Given the description of an element on the screen output the (x, y) to click on. 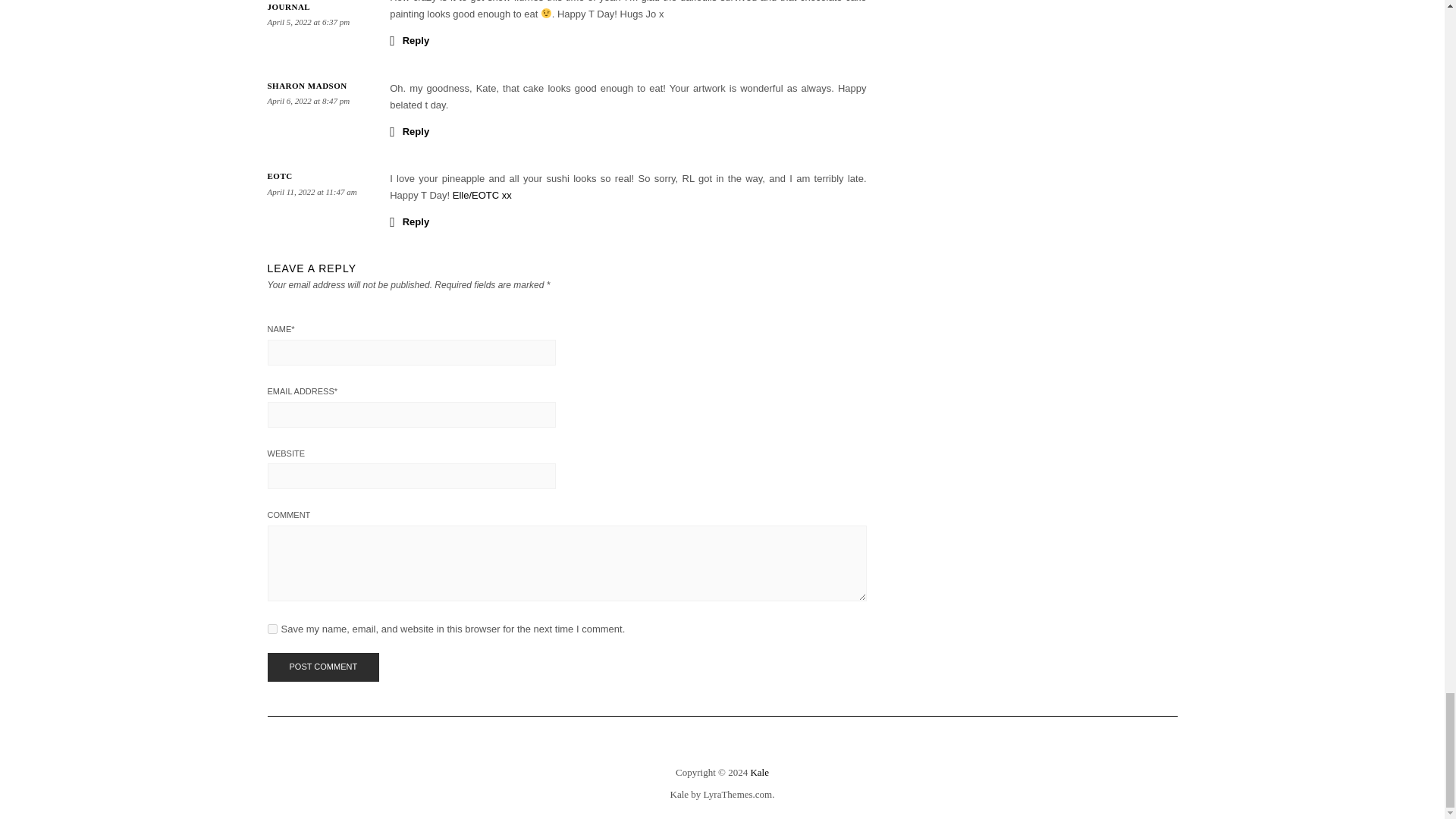
yes (271, 628)
Post Comment (322, 666)
